Given the description of an element on the screen output the (x, y) to click on. 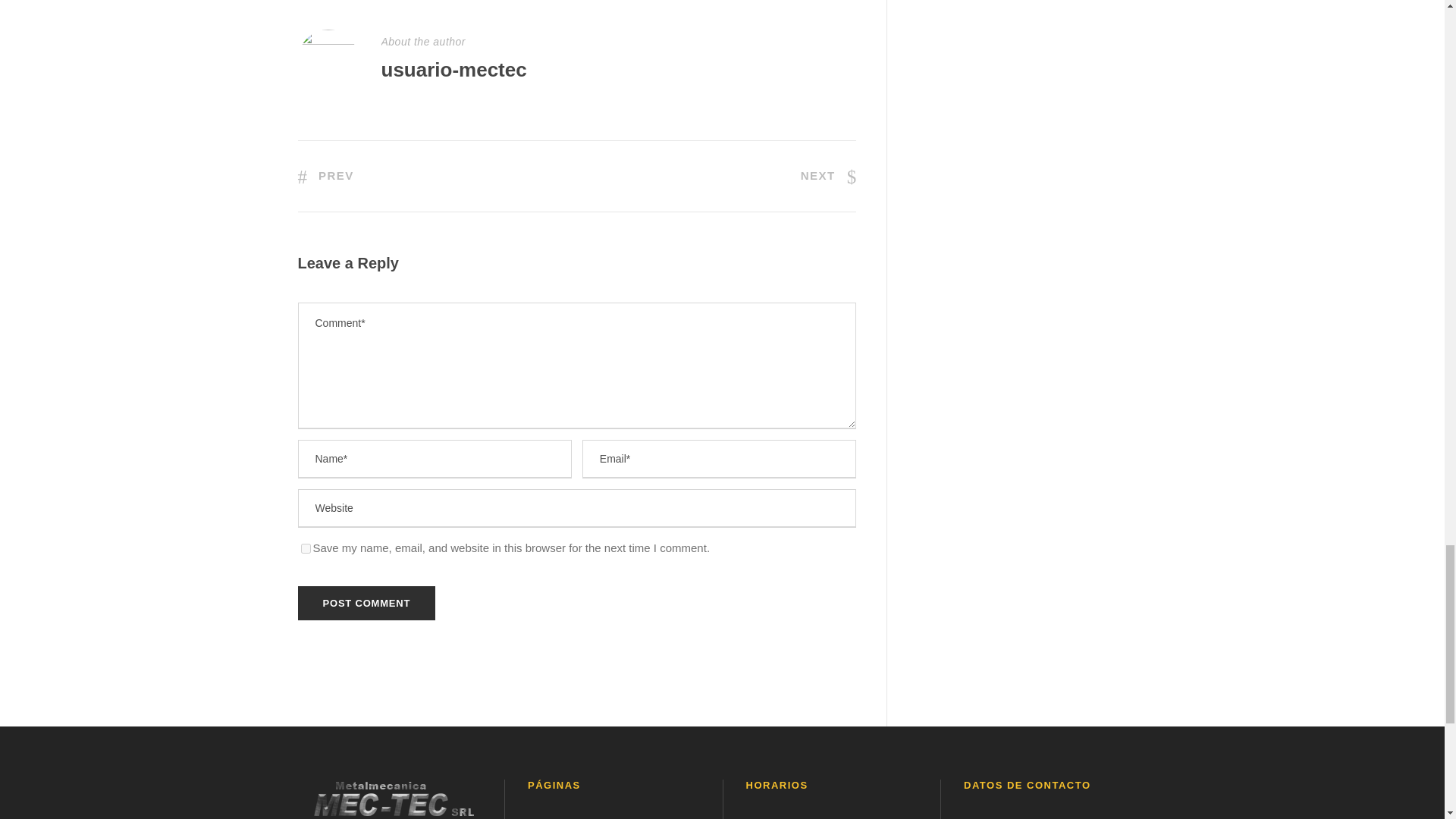
Entradas de usuario-mectec (452, 69)
yes (304, 548)
Post Comment (366, 602)
